Given the description of an element on the screen output the (x, y) to click on. 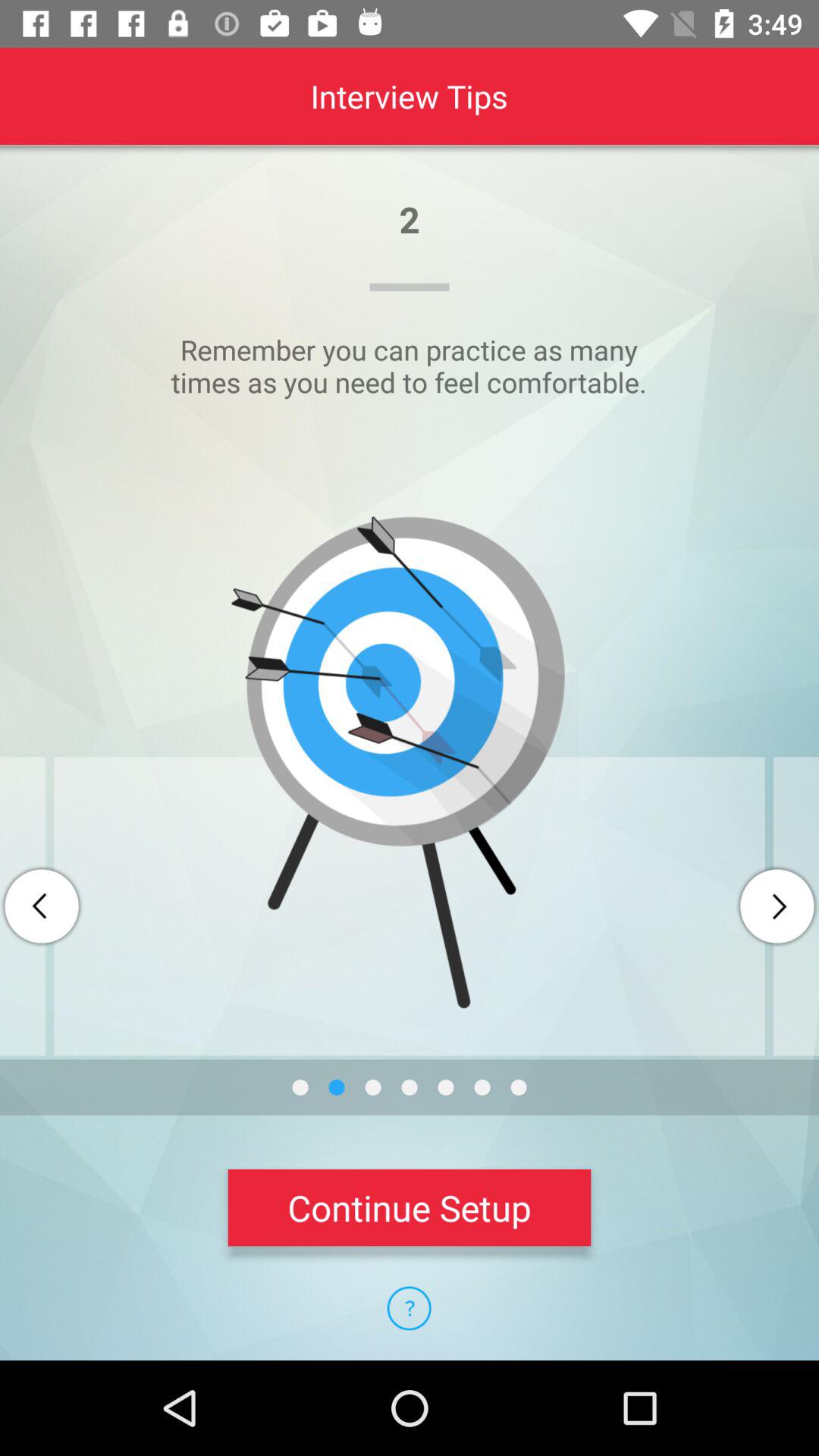
go to next page (777, 906)
